Given the description of an element on the screen output the (x, y) to click on. 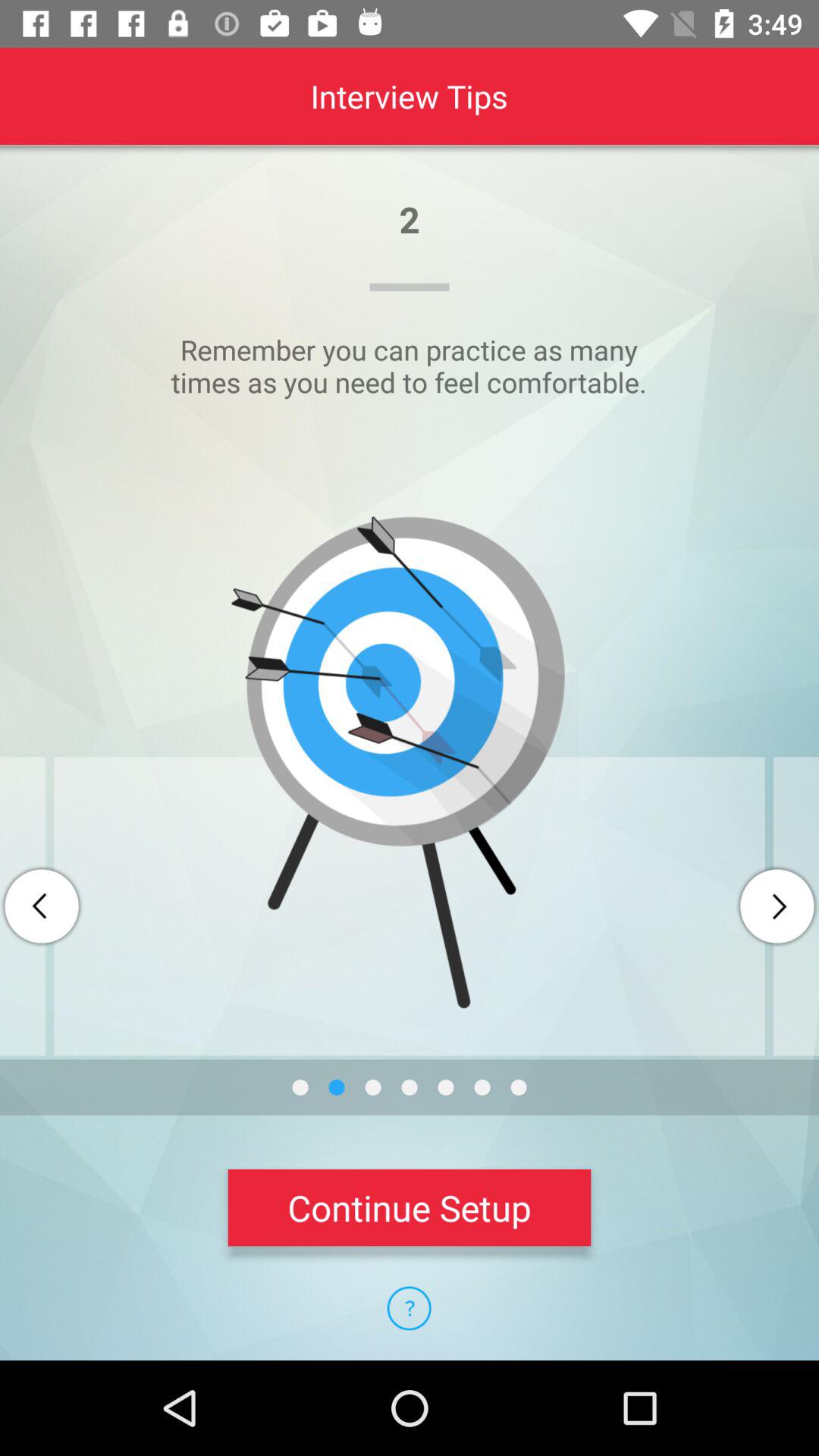
go to next page (777, 906)
